Given the description of an element on the screen output the (x, y) to click on. 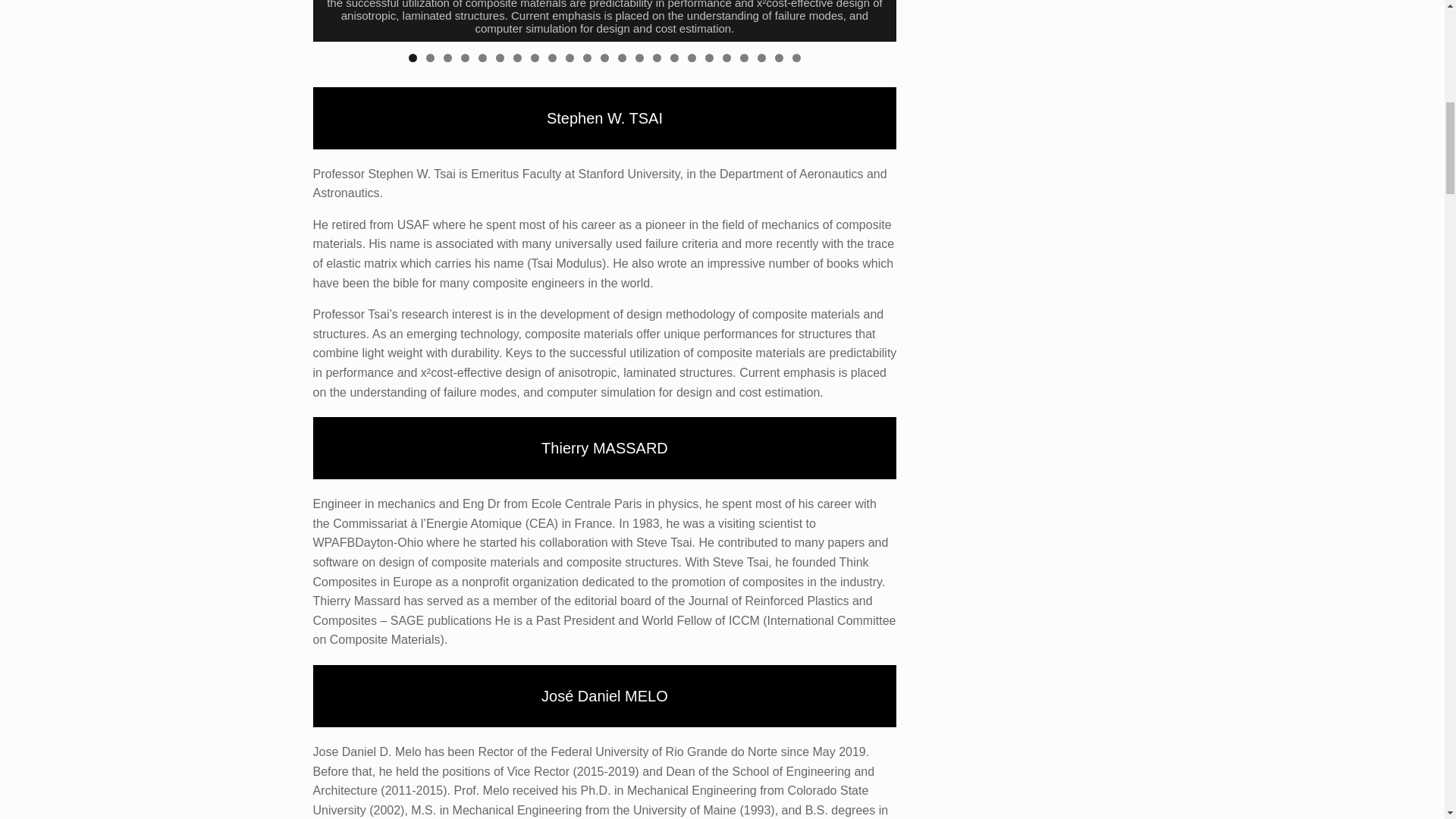
4 (464, 58)
stephen tsai bio (604, 20)
12 (603, 58)
5 (482, 58)
14 (638, 58)
13 (621, 58)
6 (499, 58)
7 (517, 58)
1 (412, 58)
3 (447, 58)
11 (587, 58)
8 (534, 58)
9 (552, 58)
10 (569, 58)
2 (429, 58)
